Given the description of an element on the screen output the (x, y) to click on. 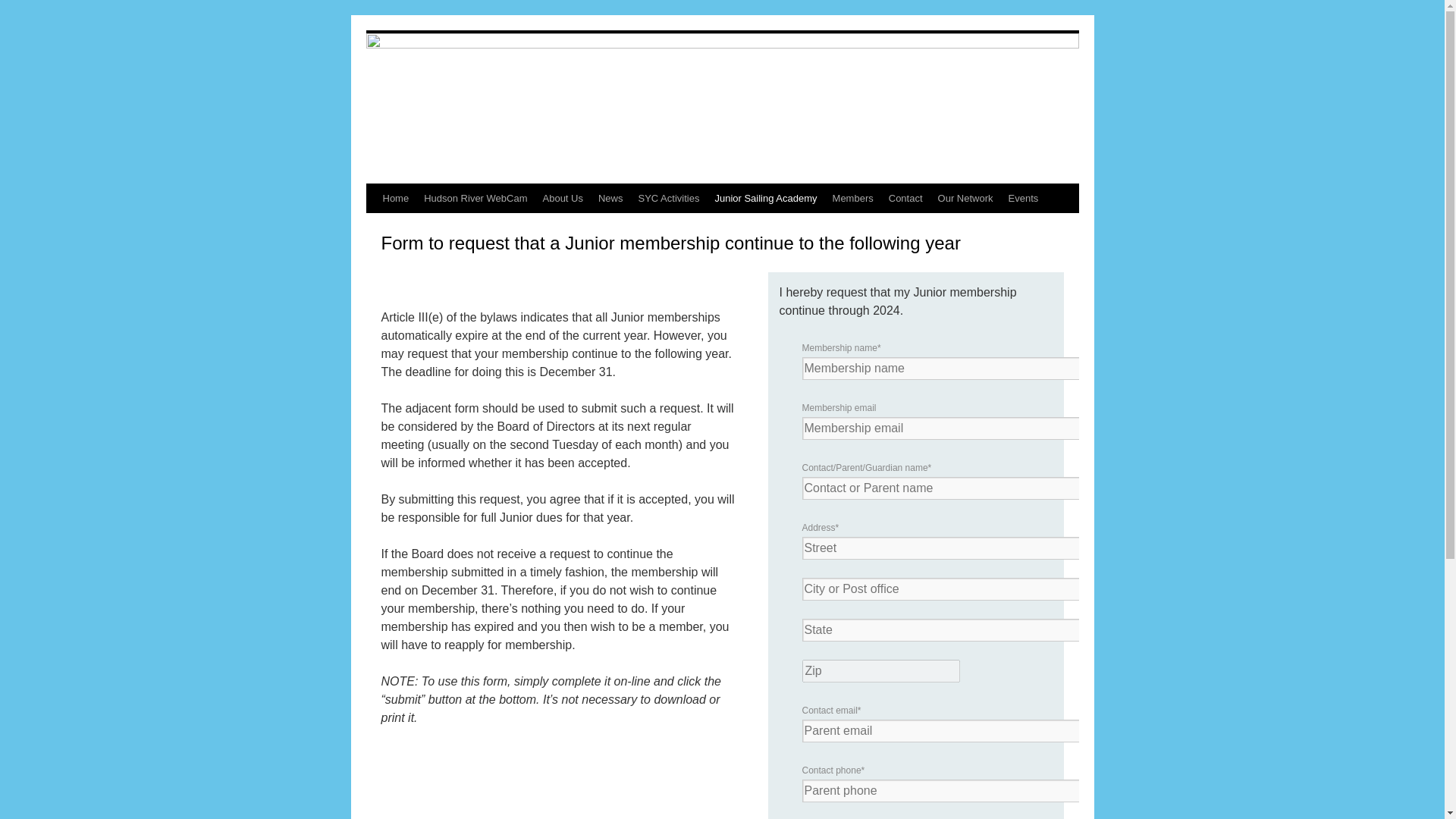
Shattemuc Yacht Club (721, 107)
Events (1023, 198)
SYC Activities (668, 198)
Contact (905, 198)
Our Network (965, 198)
Junior Sailing Academy (765, 198)
Members (852, 198)
About Us (563, 198)
Hudson River WebCam (475, 198)
Home (395, 198)
News (610, 198)
